Given the description of an element on the screen output the (x, y) to click on. 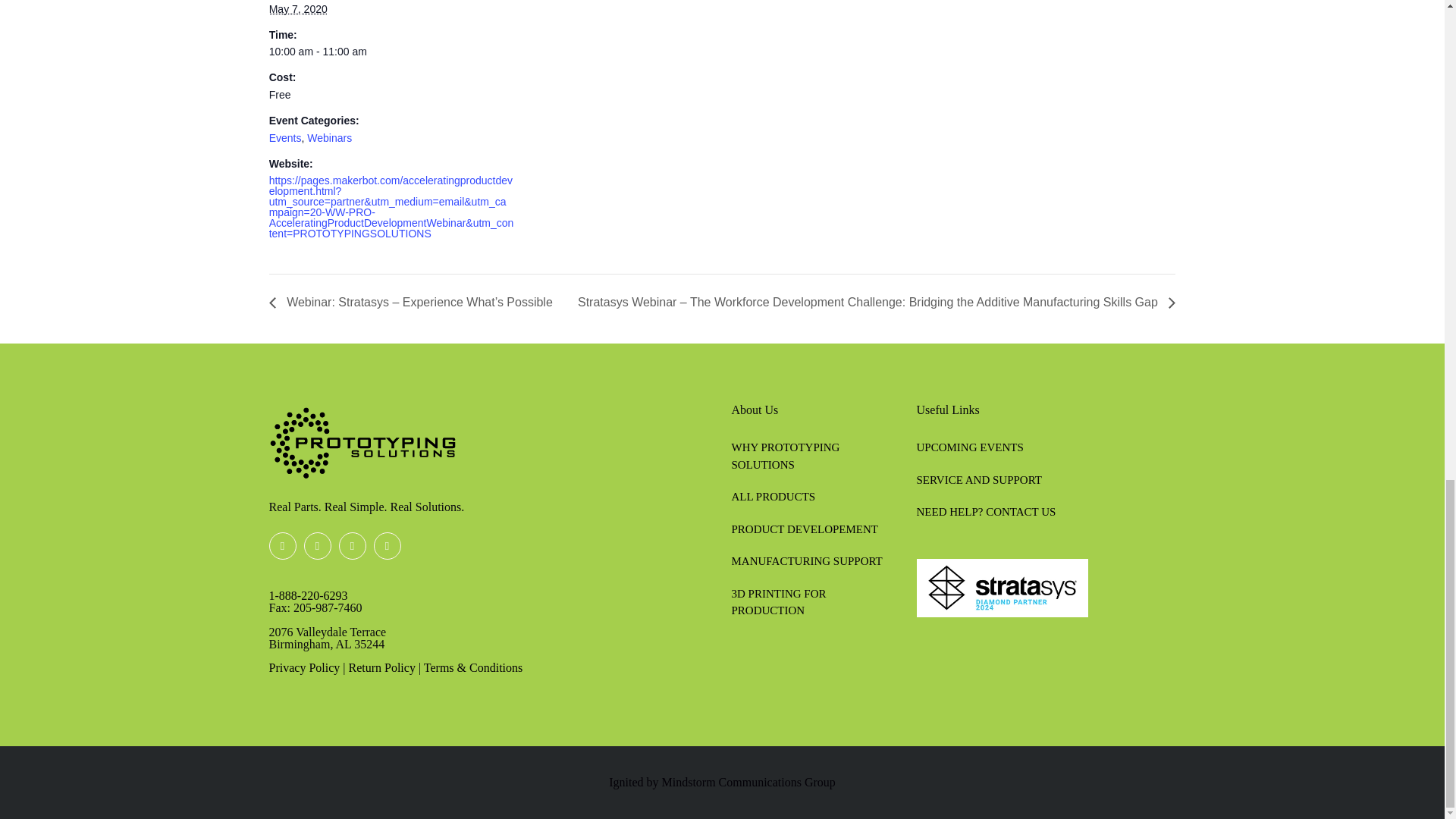
2020-05-07 (298, 9)
2020-05-07 (391, 50)
